Given the description of an element on the screen output the (x, y) to click on. 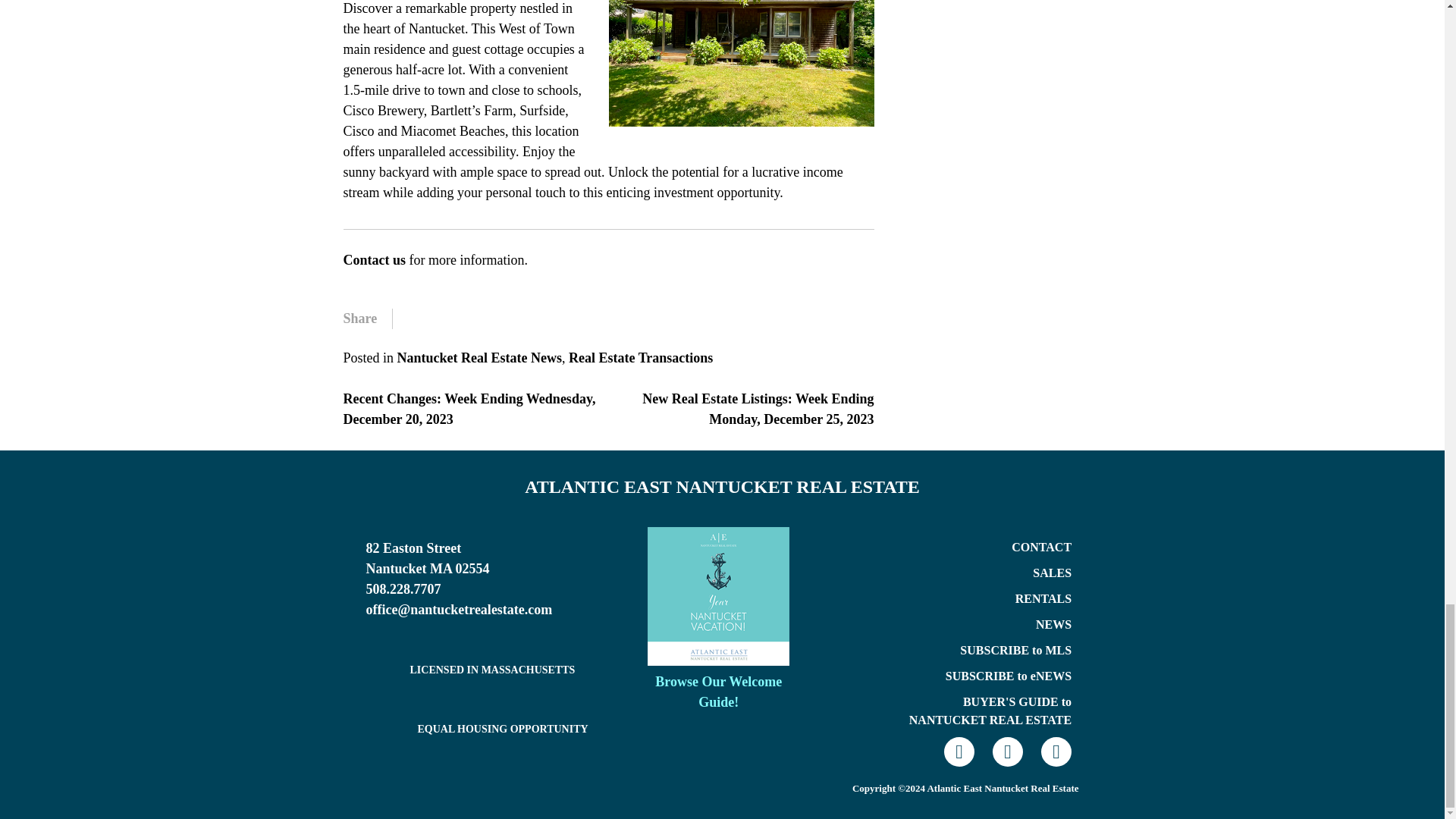
CONTACT (1041, 546)
RENTALS (1042, 598)
Share on Pinterest (487, 318)
36 Meadow View Drive (740, 63)
NEWS (1053, 624)
Share on Twitter (441, 318)
Share on LinkedIn (510, 318)
Share on Facebook (418, 318)
SALES (1051, 572)
